Given the description of an element on the screen output the (x, y) to click on. 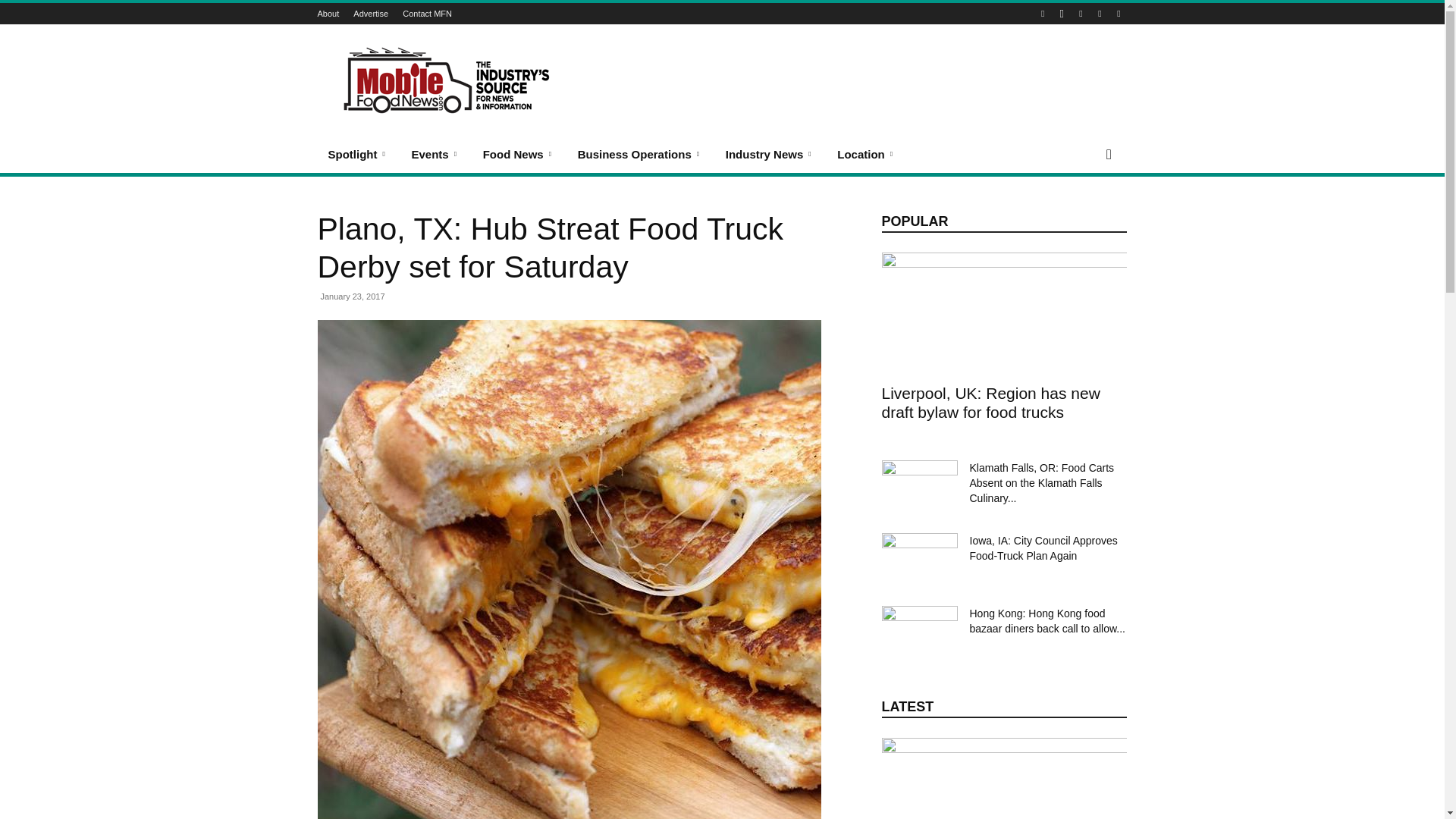
Advertise (370, 13)
Contact MFN (427, 13)
About (328, 13)
